Given the description of an element on the screen output the (x, y) to click on. 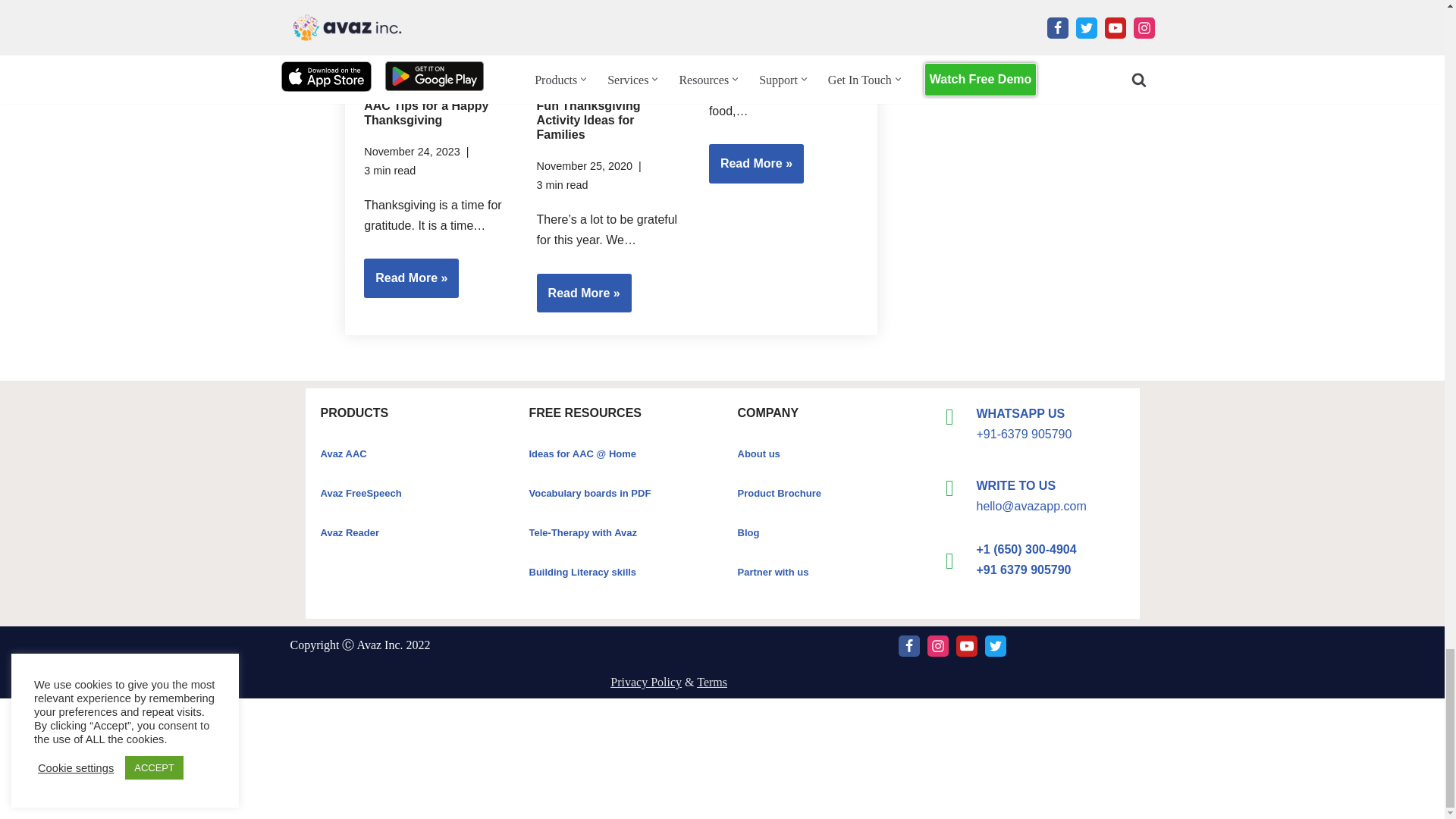
Facebook (909, 645)
